Given the description of an element on the screen output the (x, y) to click on. 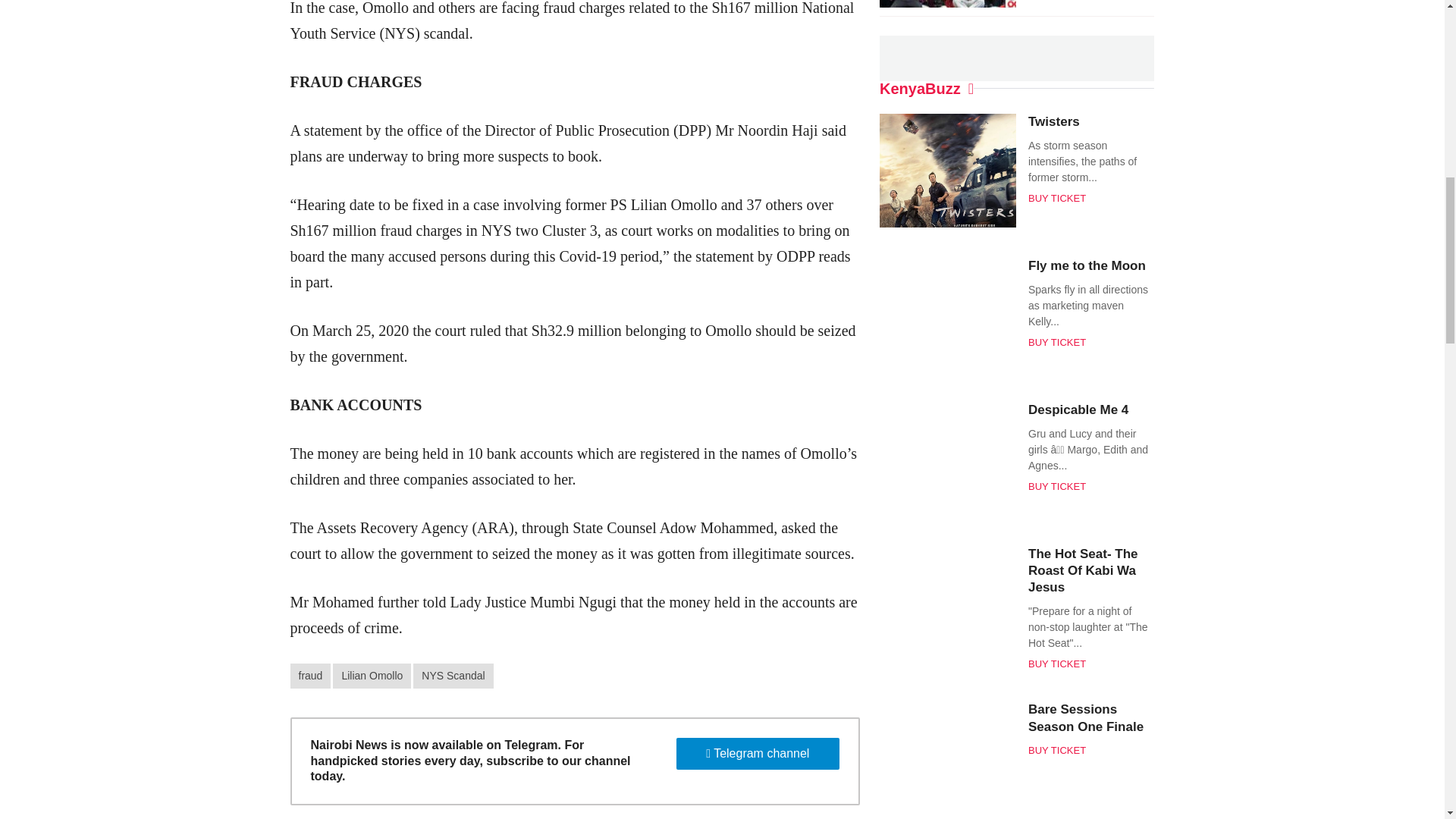
Lilian Omollo (371, 675)
Twitter (708, 49)
fraud (309, 675)
NYS Scandal (453, 675)
Facebook (681, 49)
